Given the description of an element on the screen output the (x, y) to click on. 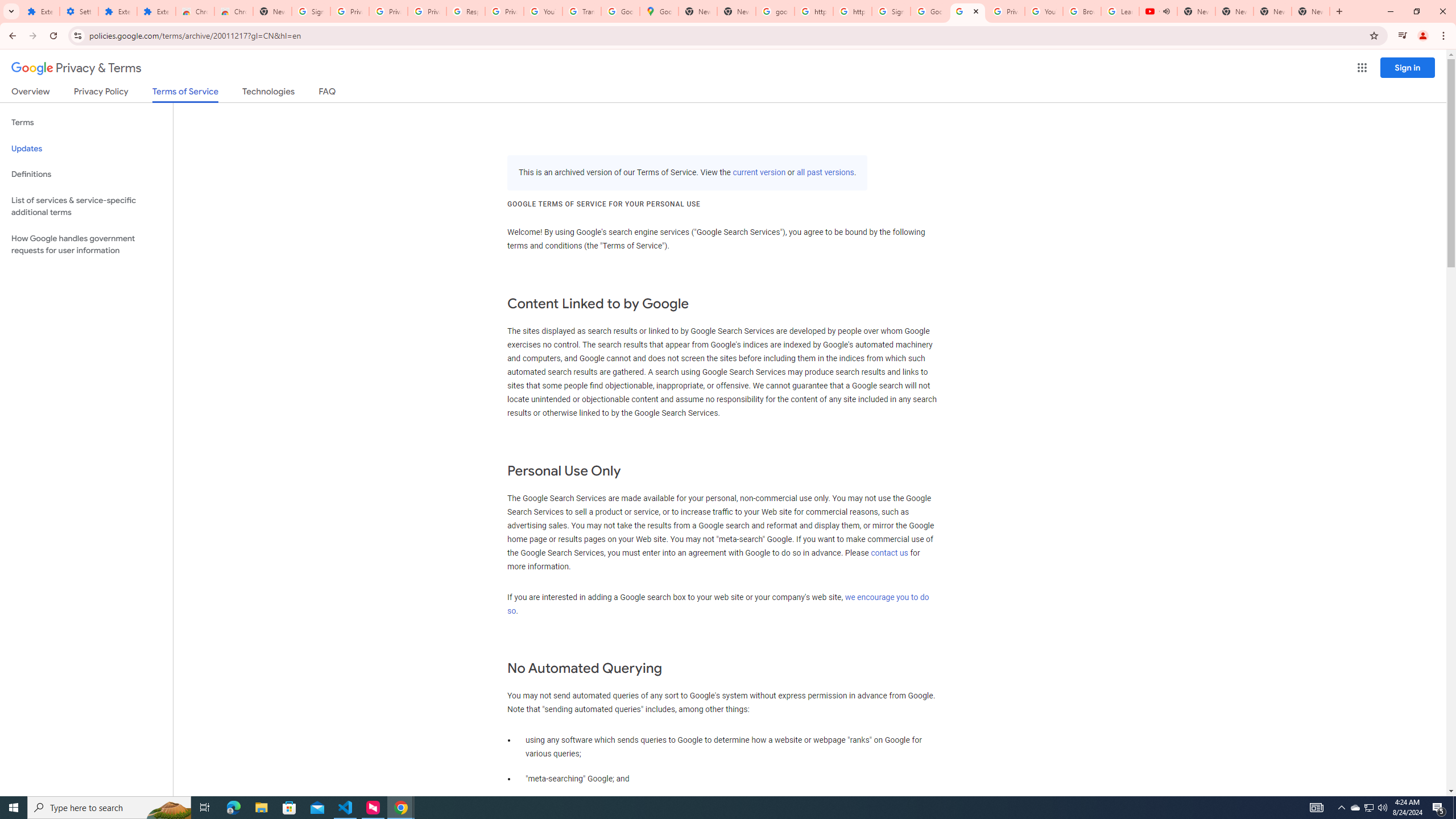
New Tab (272, 11)
https://scholar.google.com/ (852, 11)
Overview (30, 93)
YouTube (1043, 11)
